Given the description of an element on the screen output the (x, y) to click on. 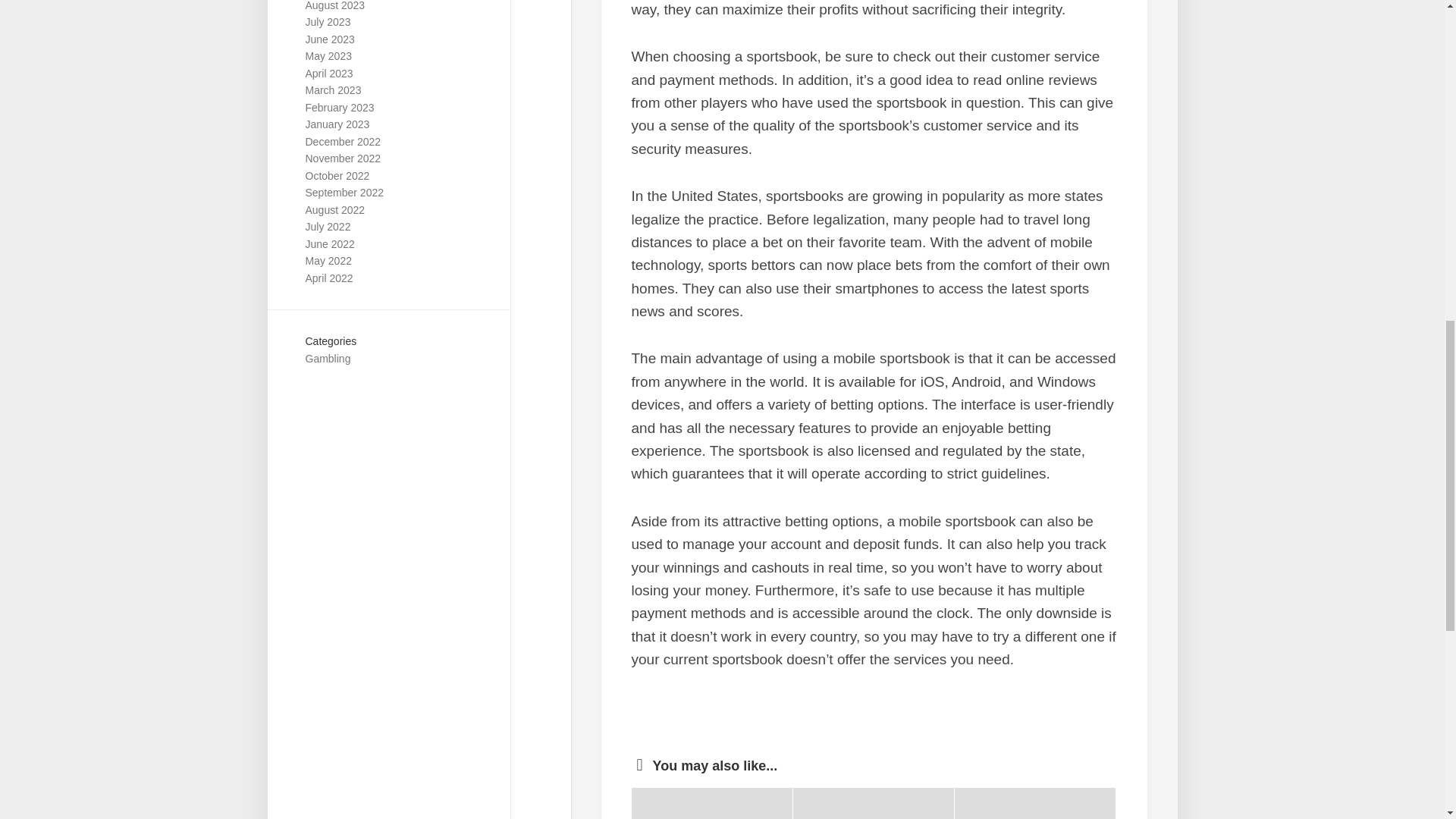
July 2022 (327, 226)
August 2022 (334, 209)
September 2022 (344, 192)
October 2022 (336, 175)
August 2023 (334, 5)
May 2023 (327, 55)
Gambling (327, 358)
December 2022 (342, 141)
April 2022 (328, 277)
March 2023 (332, 90)
February 2023 (339, 107)
July 2023 (327, 21)
May 2022 (327, 260)
June 2023 (328, 39)
June 2022 (328, 244)
